Given the description of an element on the screen output the (x, y) to click on. 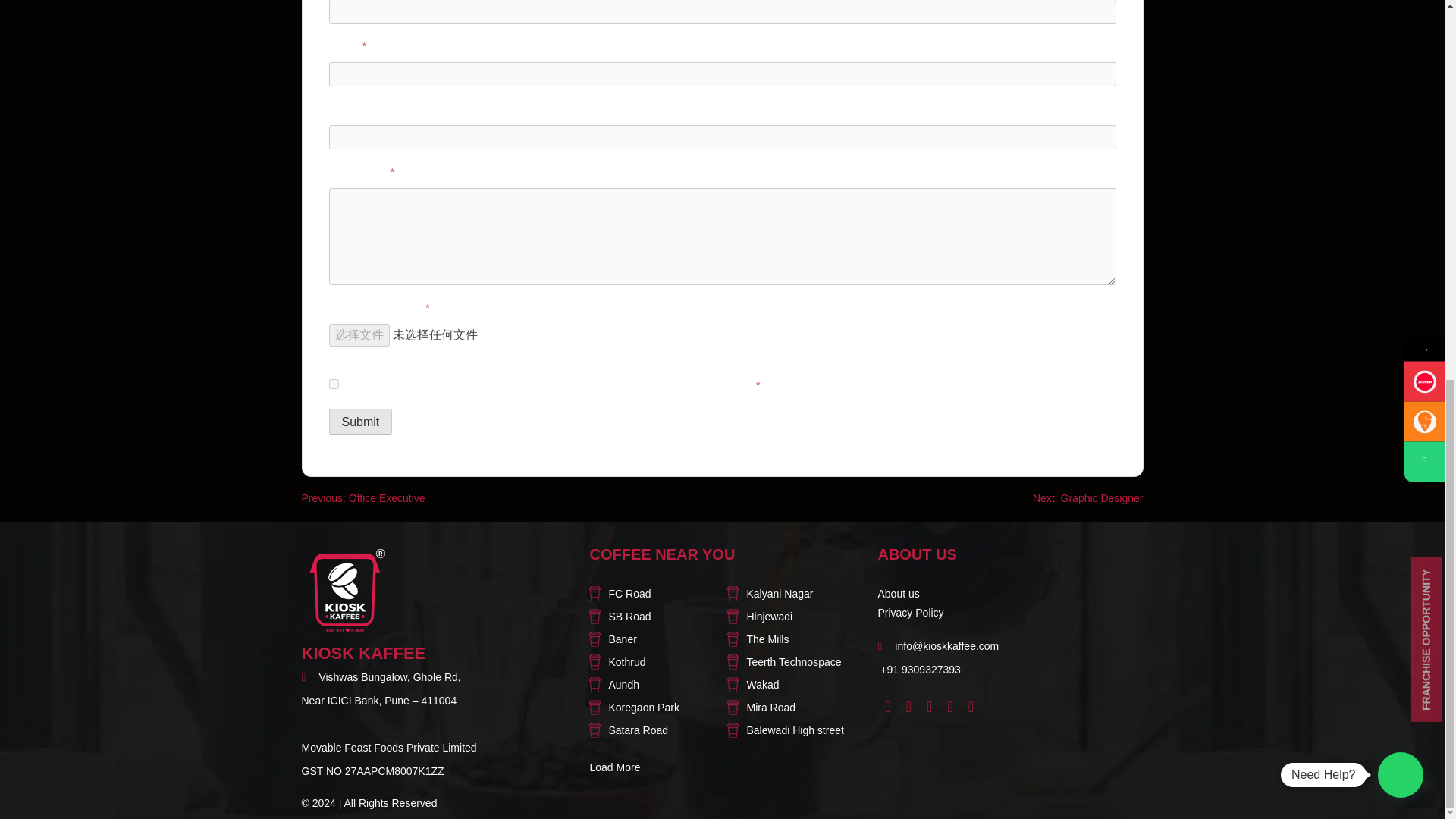
SB Road (662, 616)
Next: Graphic Designer (1087, 498)
Previous: Office Executive (363, 498)
FC Road (662, 593)
yes (334, 384)
Submit (361, 421)
Baner (662, 639)
Submit (361, 421)
